Given the description of an element on the screen output the (x, y) to click on. 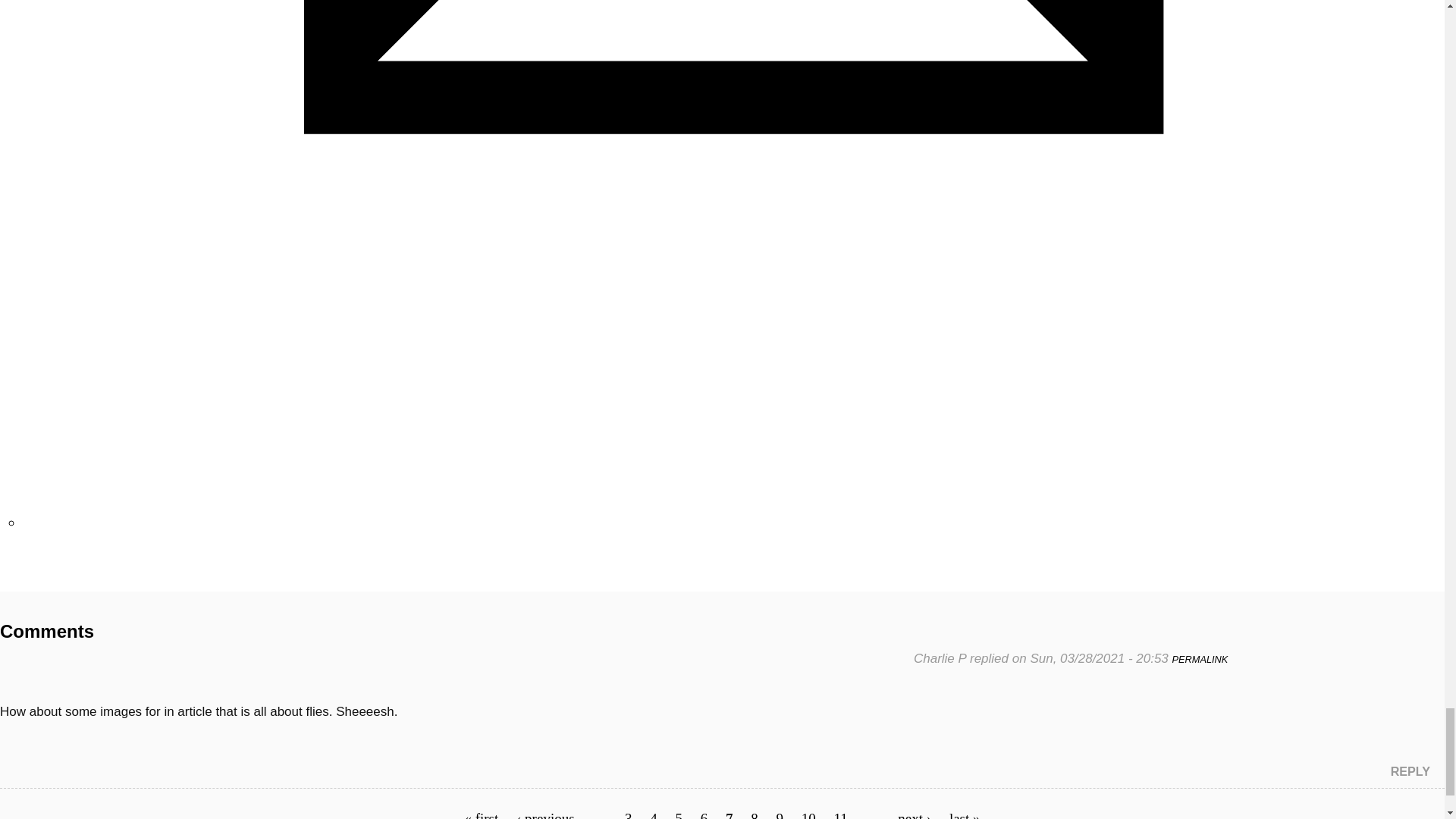
Go to page 8 (754, 814)
Go to page 3 (627, 814)
5 (678, 814)
Go to page 11 (840, 814)
Go to page 10 (808, 814)
10 (808, 814)
9 (780, 814)
PERMALINK (1200, 659)
Go to next page (914, 814)
8 (754, 814)
